Given the description of an element on the screen output the (x, y) to click on. 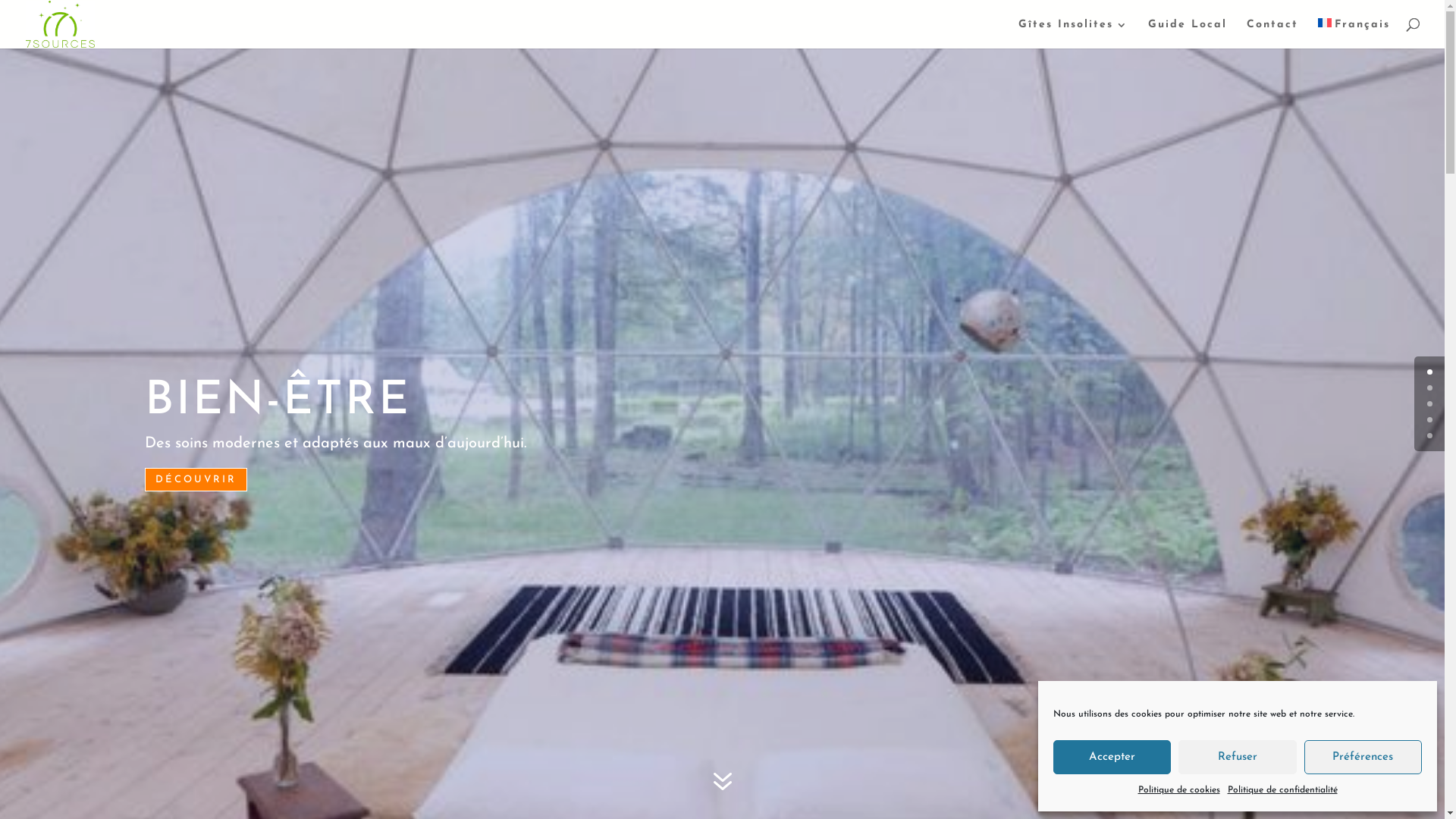
3 Element type: text (1429, 419)
2 Element type: text (1429, 403)
Accepter Element type: text (1111, 757)
Refuser Element type: text (1236, 757)
7 Element type: text (721, 782)
4 Element type: text (1429, 435)
Guide Local Element type: text (1187, 33)
0 Element type: text (1429, 371)
Contact Element type: text (1272, 33)
Politique de cookies Element type: text (1178, 790)
1 Element type: text (1429, 387)
